Given the description of an element on the screen output the (x, y) to click on. 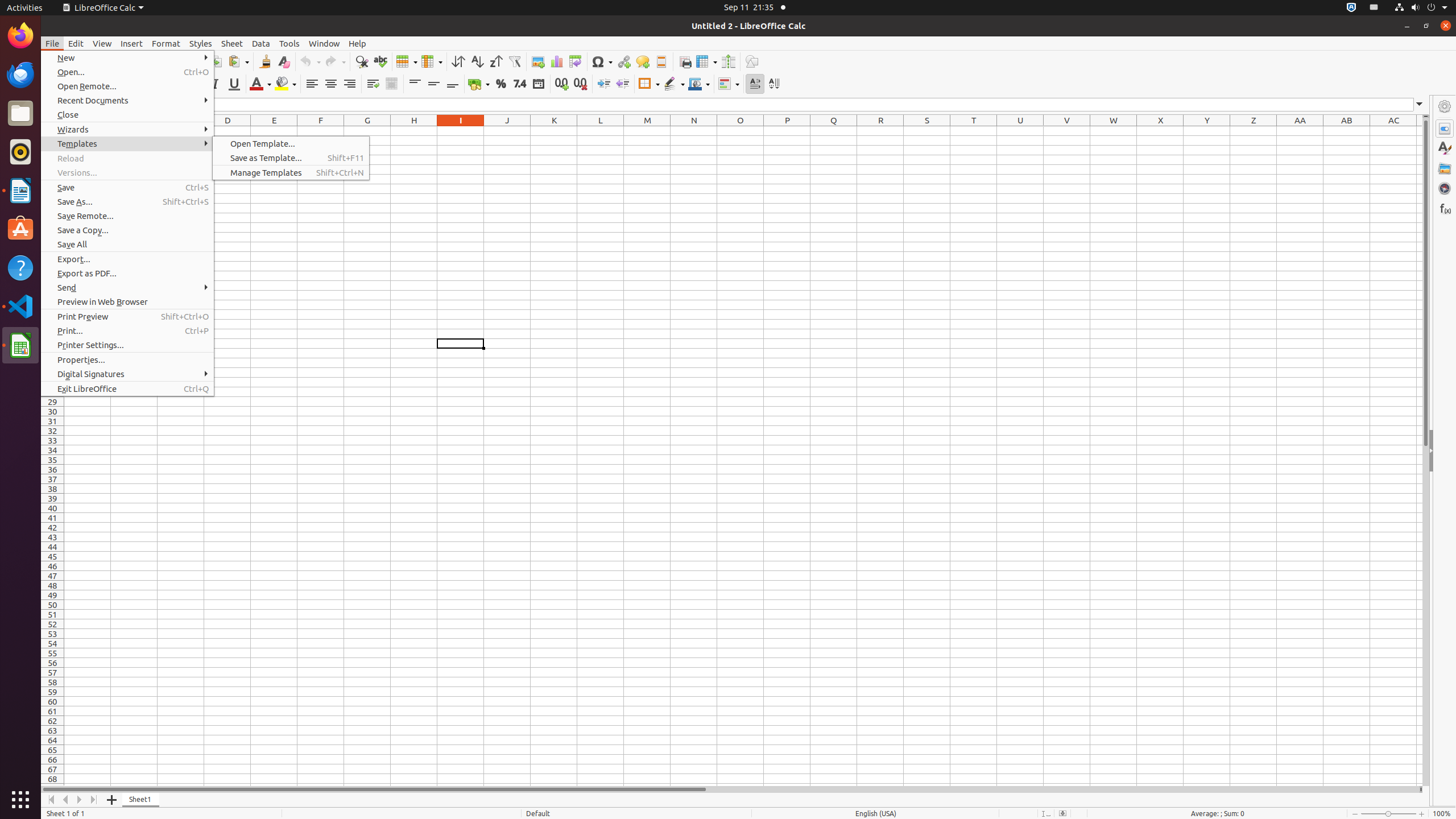
Font Color Element type: push-button (260, 83)
Format Element type: menu (165, 43)
Preview in Web Browser Element type: menu-item (126, 301)
Activities Element type: label (24, 7)
Align Left Element type: push-button (311, 83)
